Given the description of an element on the screen output the (x, y) to click on. 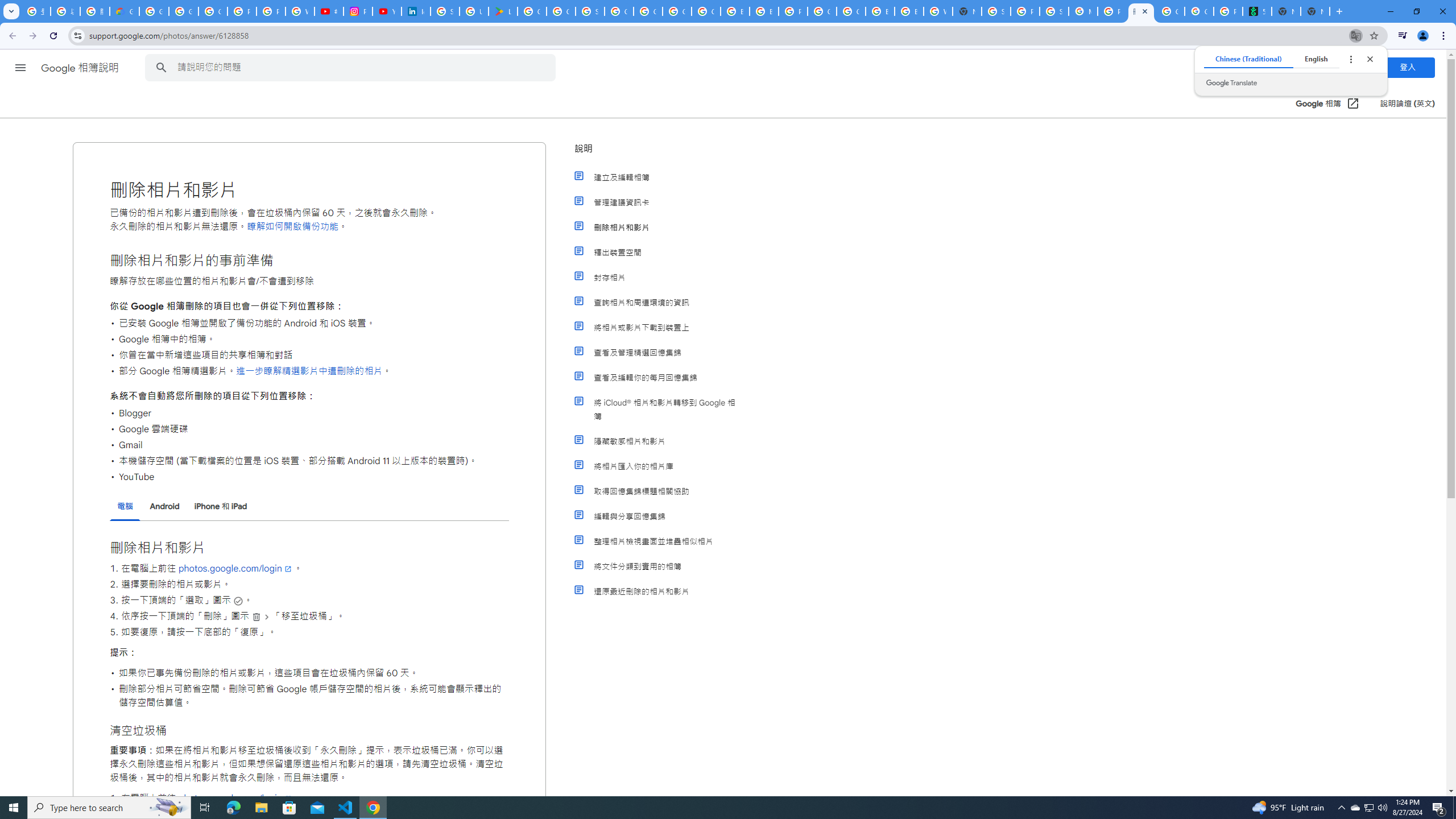
Browse Chrome as a guest - Computer - Google Chrome Help (763, 11)
Sign in - Google Accounts (590, 11)
Browse Chrome as a guest - Computer - Google Chrome Help (879, 11)
